Given the description of an element on the screen output the (x, y) to click on. 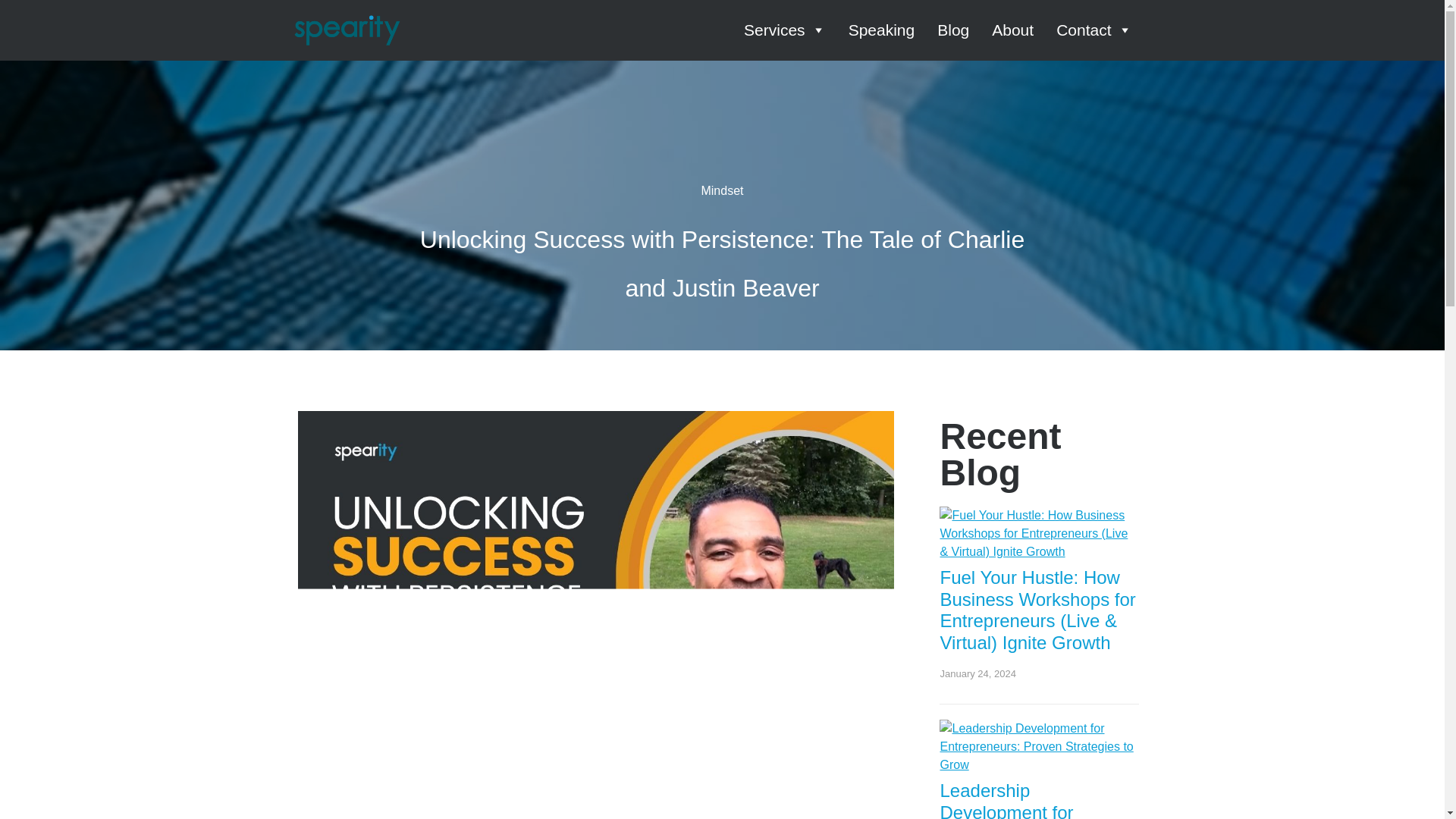
Contact (1094, 30)
Blog (953, 30)
About (1012, 30)
Services (784, 30)
Speaking (881, 30)
